Given the description of an element on the screen output the (x, y) to click on. 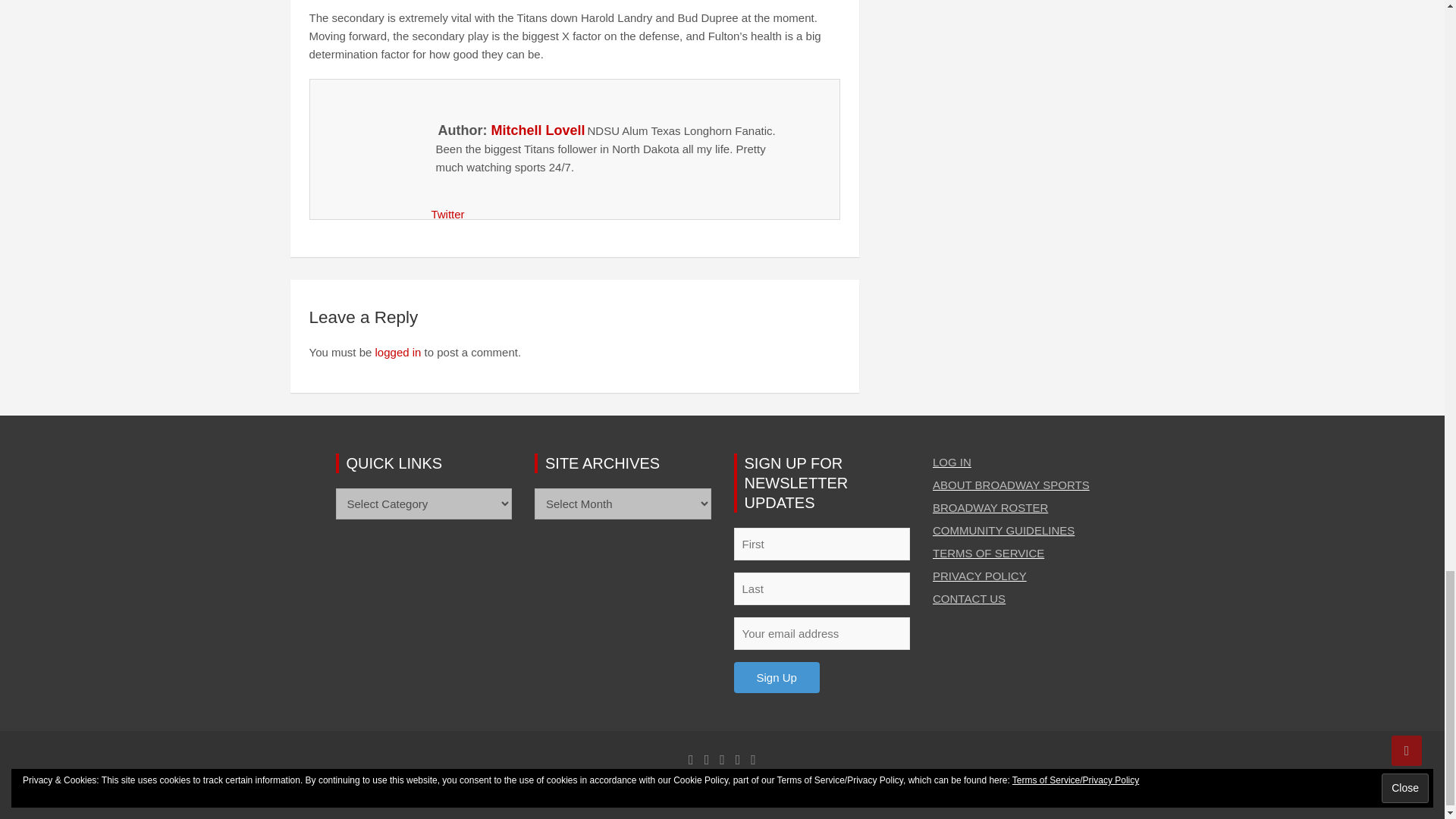
Sign Up (776, 676)
Broadway Sports Media (536, 789)
